Given the description of an element on the screen output the (x, y) to click on. 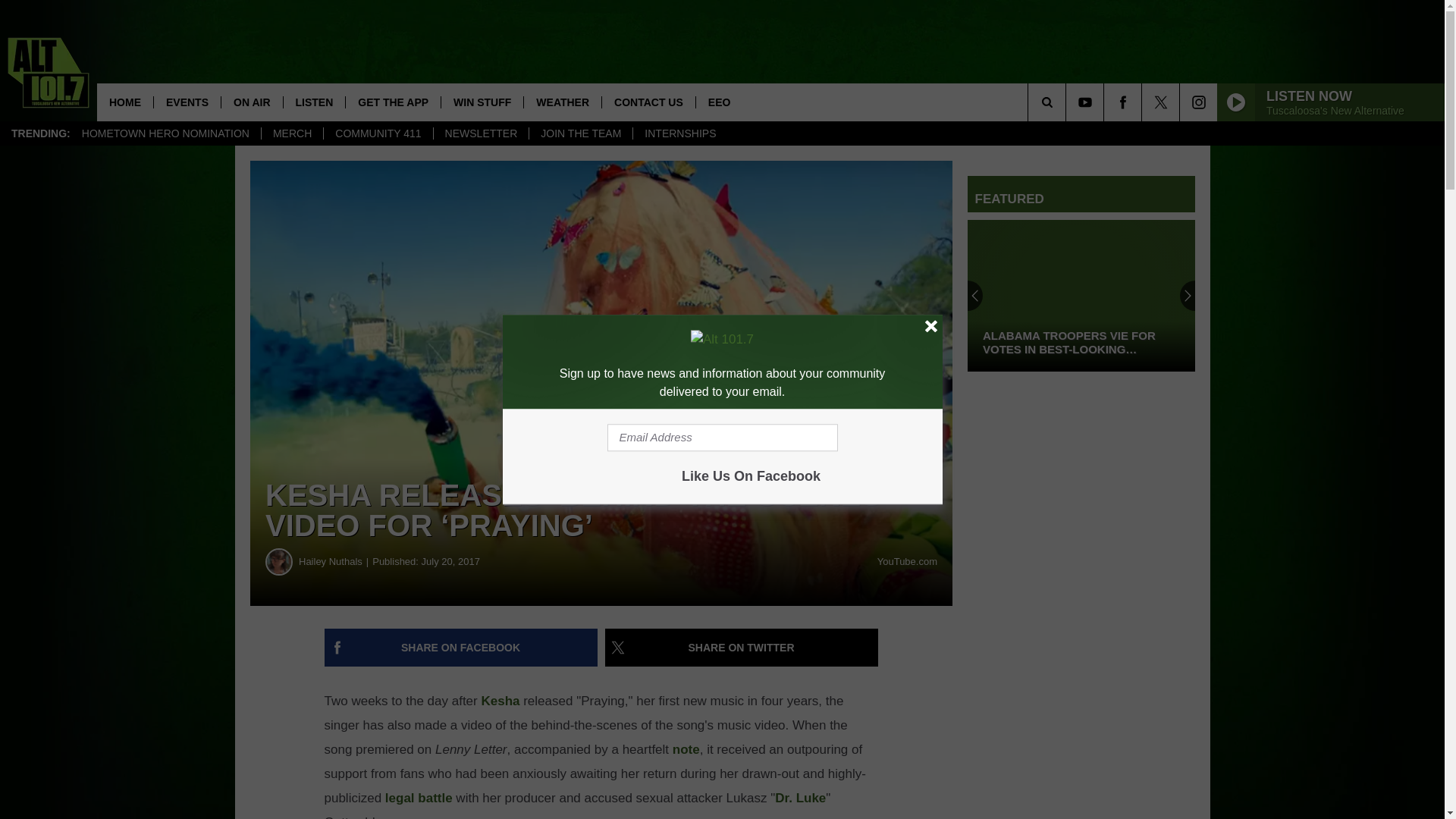
Email Address (722, 437)
SEARCH (1068, 102)
EVENTS (186, 102)
Share on Twitter (741, 647)
Share on Facebook (460, 647)
JOIN THE TEAM (579, 133)
ON AIR (251, 102)
NEWSLETTER (480, 133)
WEATHER (561, 102)
GET THE APP (393, 102)
COMMUNITY 411 (377, 133)
HOMETOWN HERO NOMINATION (164, 133)
INTERNSHIPS (678, 133)
LISTEN (313, 102)
SEARCH (1068, 102)
